Given the description of an element on the screen output the (x, y) to click on. 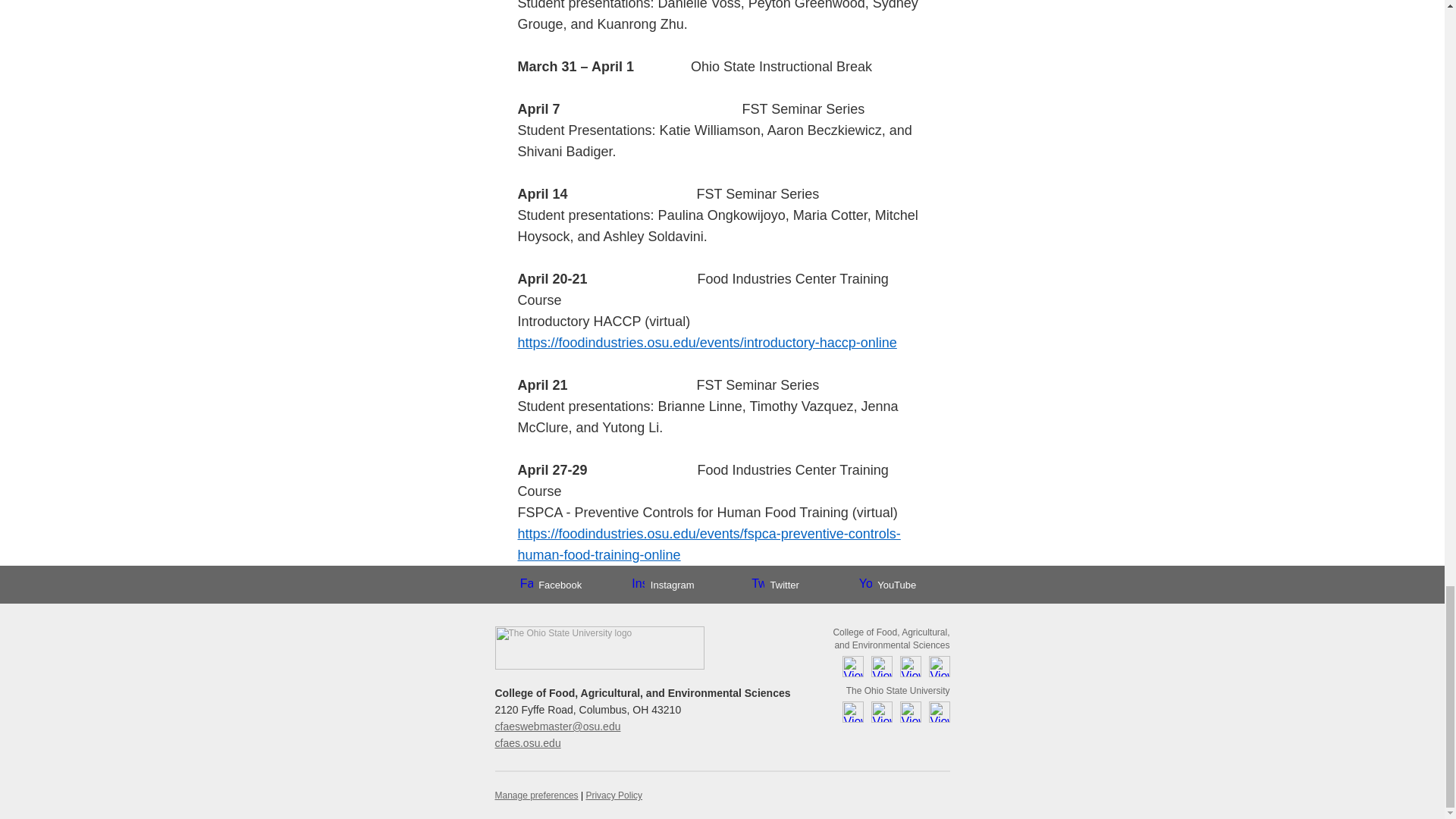
YouTube (888, 584)
Instagram (662, 584)
Privacy Policy (613, 795)
cfaes.osu.edu (527, 743)
Facebook (550, 584)
Twitter (775, 584)
Manage preferences (536, 795)
